Given the description of an element on the screen output the (x, y) to click on. 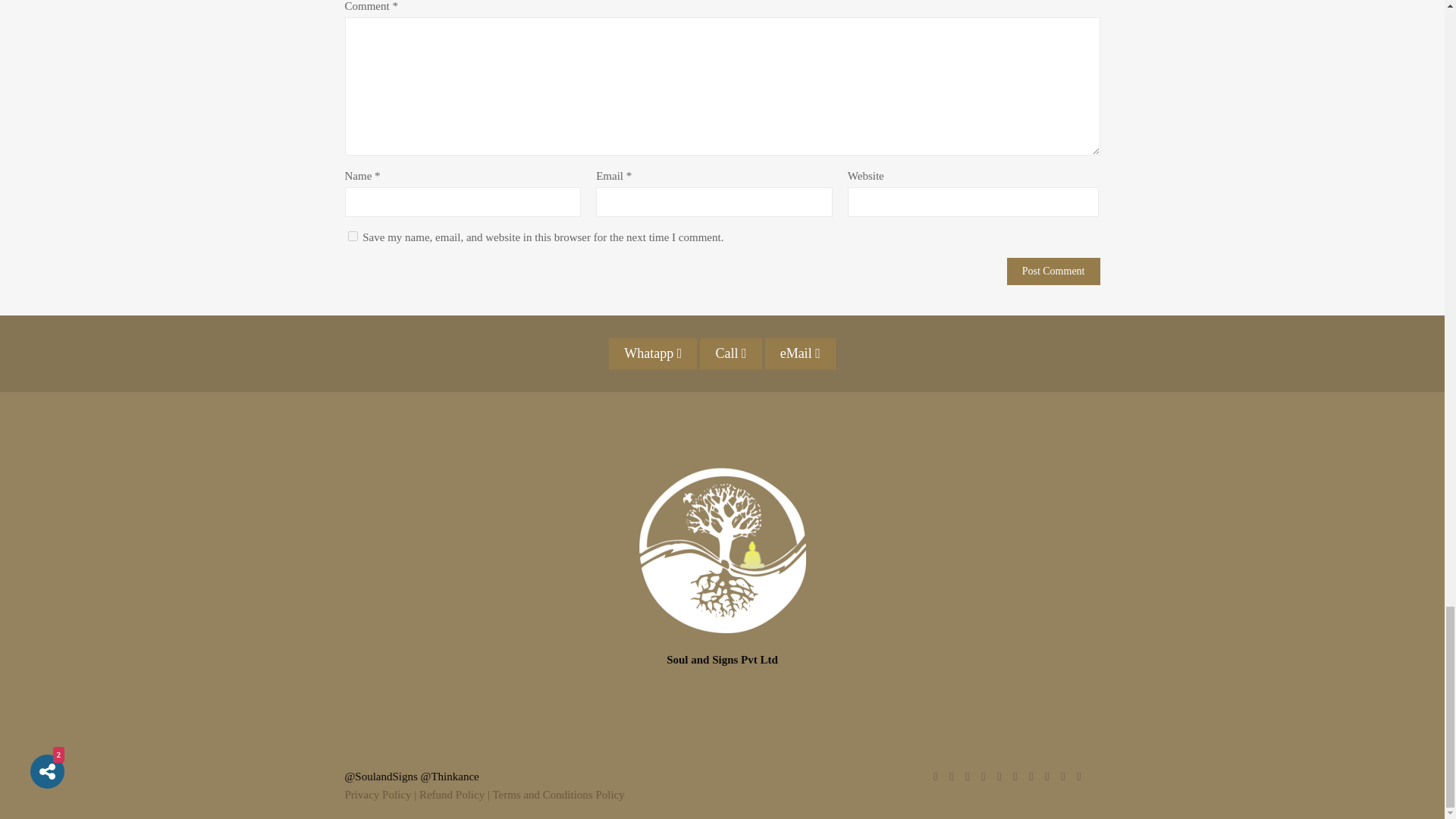
yes (351, 235)
Post Comment (1053, 271)
